Given the description of an element on the screen output the (x, y) to click on. 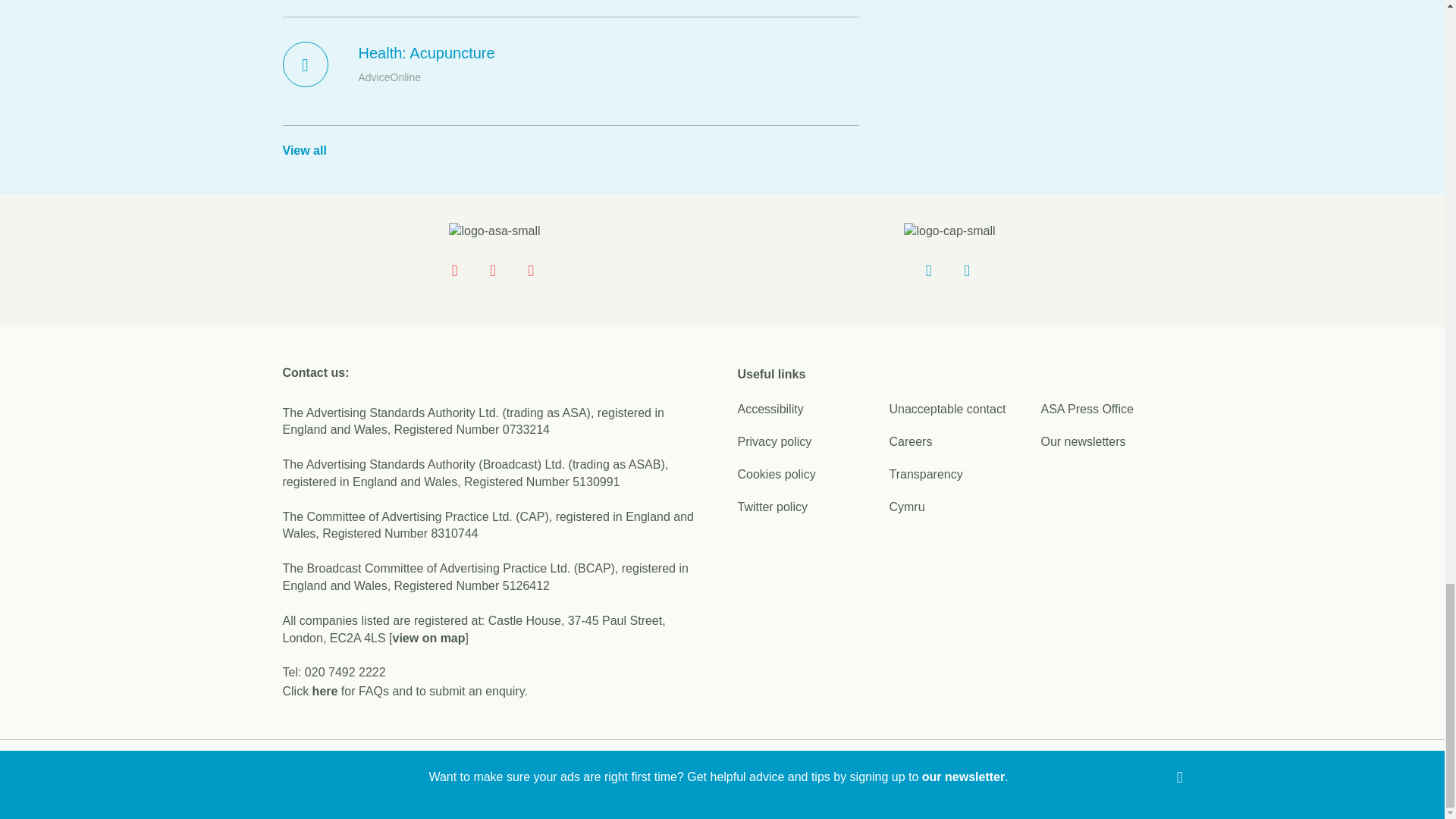
Cookies policy (775, 473)
Transparency (925, 473)
Accessibility (769, 408)
Our newsletters (1083, 440)
Careers (909, 440)
Privacy policy (773, 440)
